Given the description of an element on the screen output the (x, y) to click on. 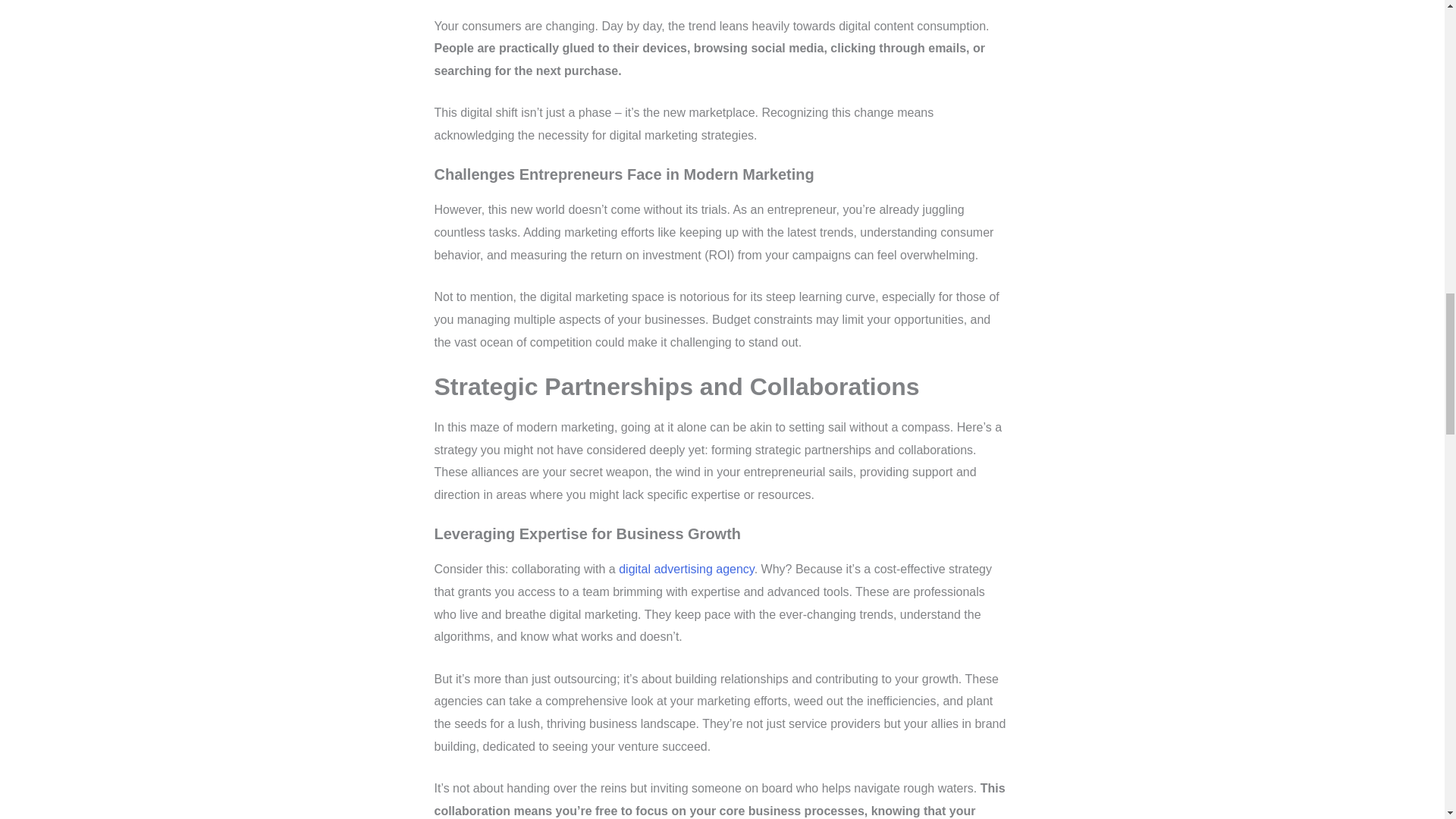
digital advertising agency (686, 568)
